Given the description of an element on the screen output the (x, y) to click on. 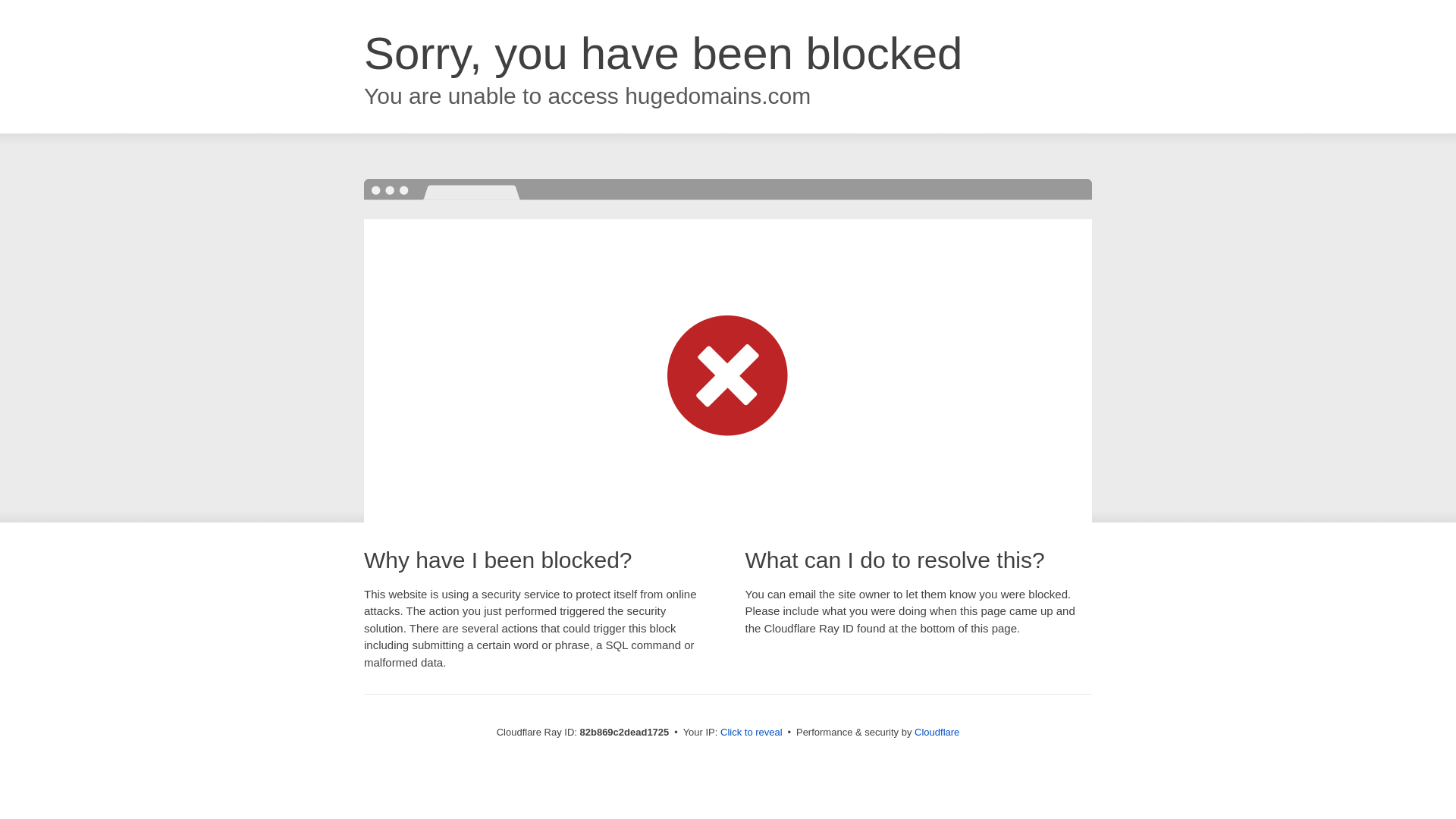
Click to reveal Element type: text (751, 732)
Cloudflare Element type: text (936, 731)
